Given the description of an element on the screen output the (x, y) to click on. 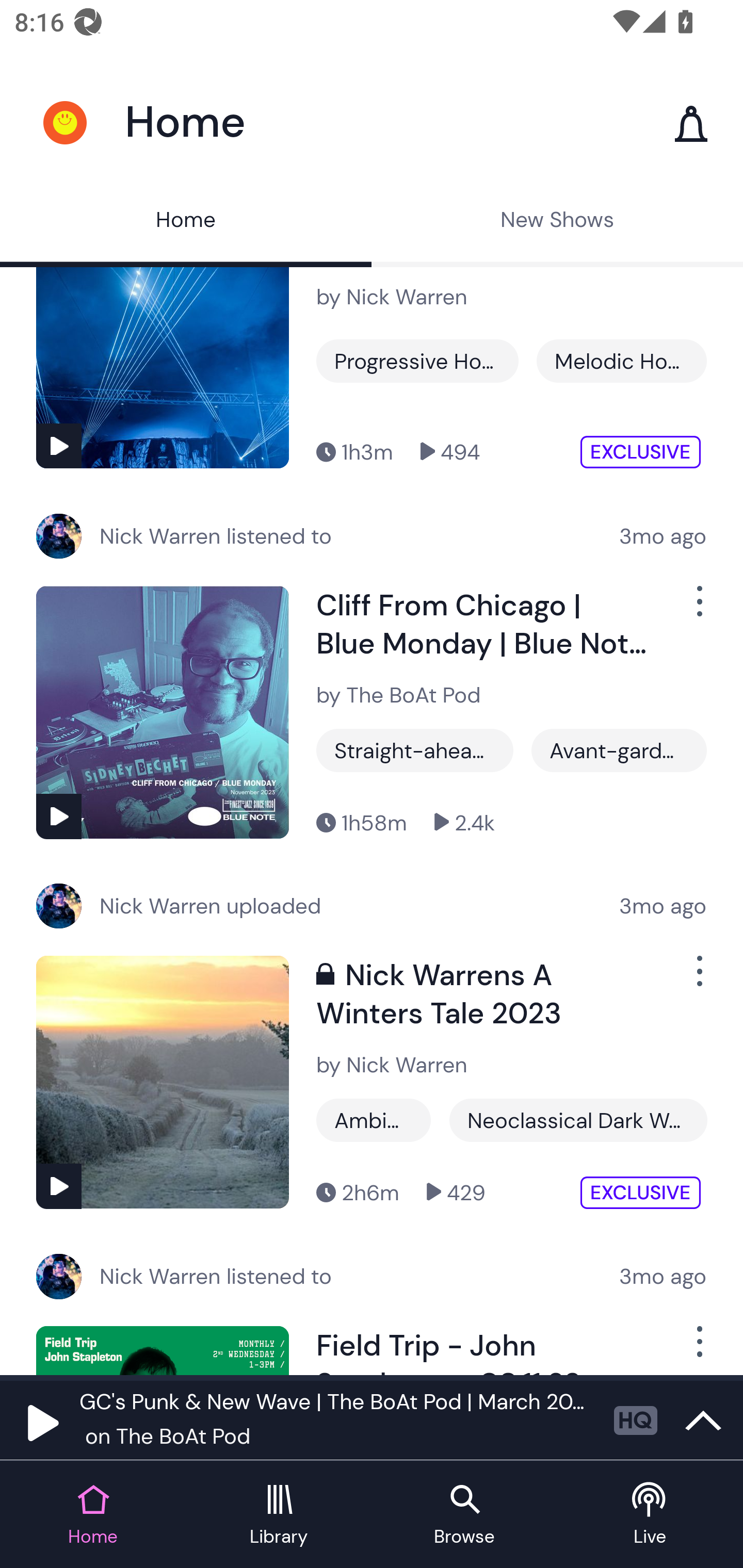
Home (185, 221)
New Shows (557, 221)
Progressive House (417, 360)
Melodic House (621, 360)
Show Options Menu Button (697, 609)
Straight-ahead Jazz (414, 750)
Avant-garde Jazz (618, 750)
Show Options Menu Button (697, 978)
Ambient (373, 1120)
Neoclassical Dark Wave (577, 1120)
Show Options Menu Button (697, 1349)
Home tab Home (92, 1515)
Library tab Library (278, 1515)
Browse tab Browse (464, 1515)
Live tab Live (650, 1515)
